Given the description of an element on the screen output the (x, y) to click on. 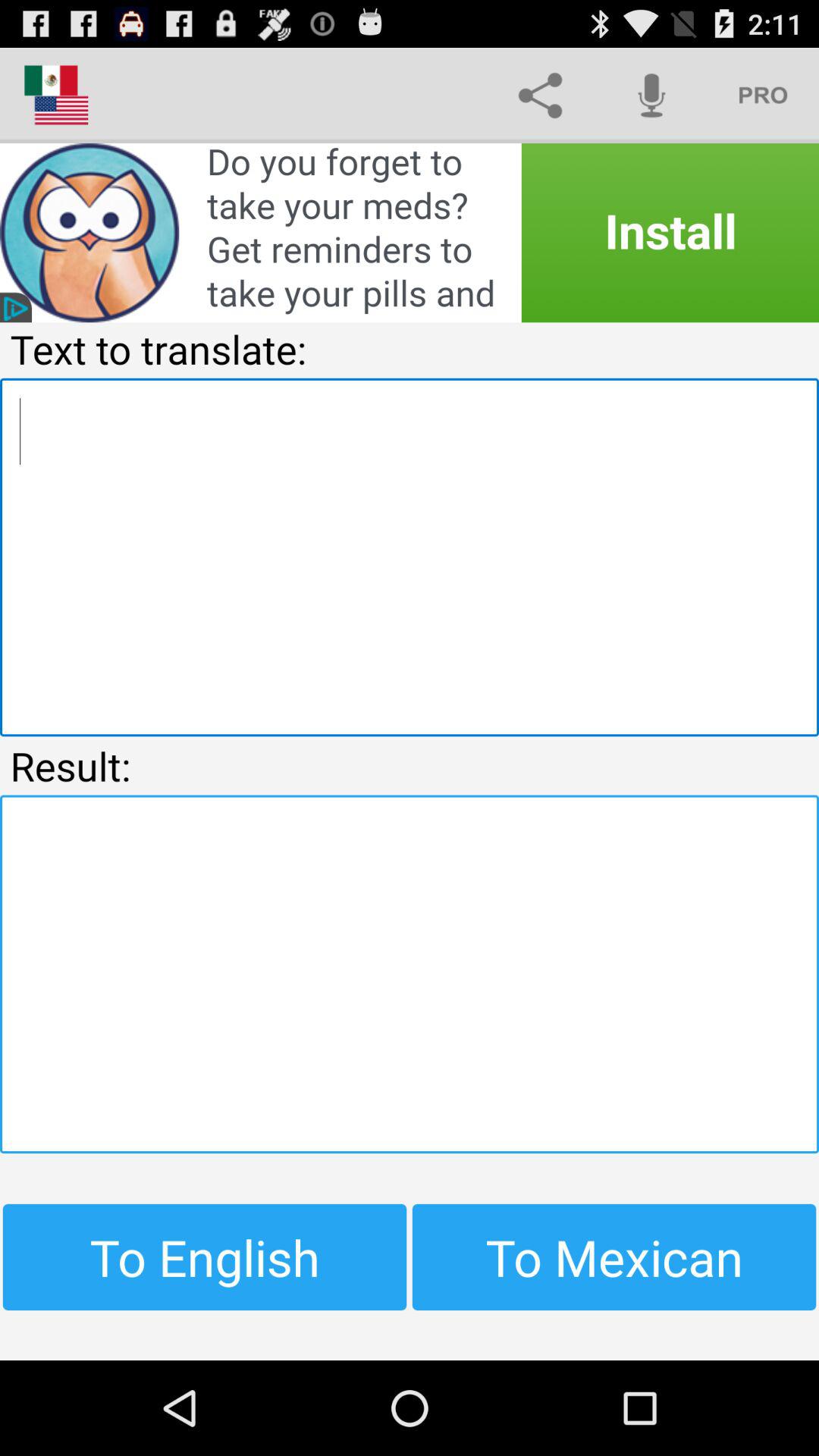
translated comment box (409, 974)
